Given the description of an element on the screen output the (x, y) to click on. 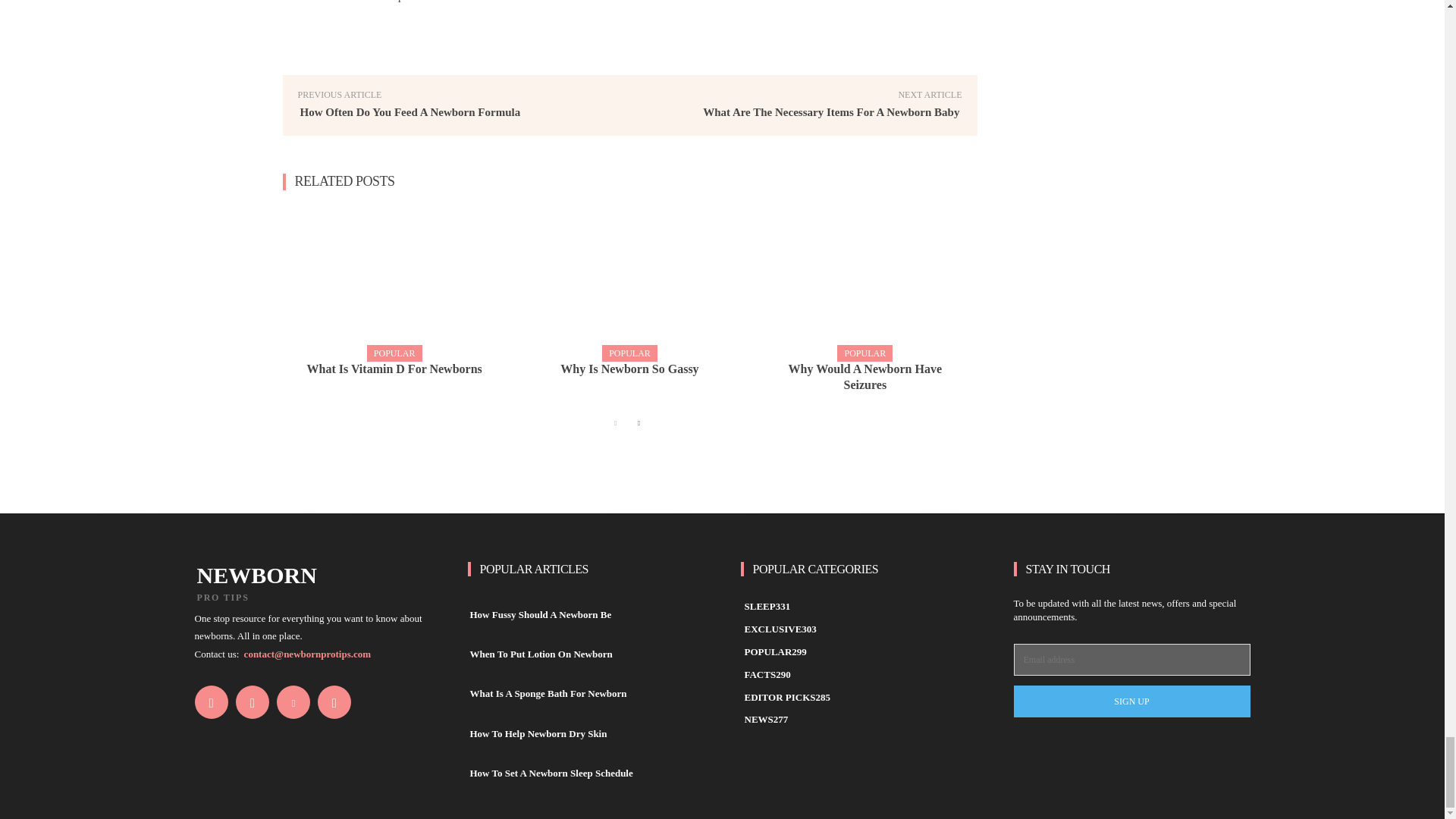
What Is Vitamin D For Newborns (393, 281)
What Is Vitamin D For Newborns (394, 369)
